Given the description of an element on the screen output the (x, y) to click on. 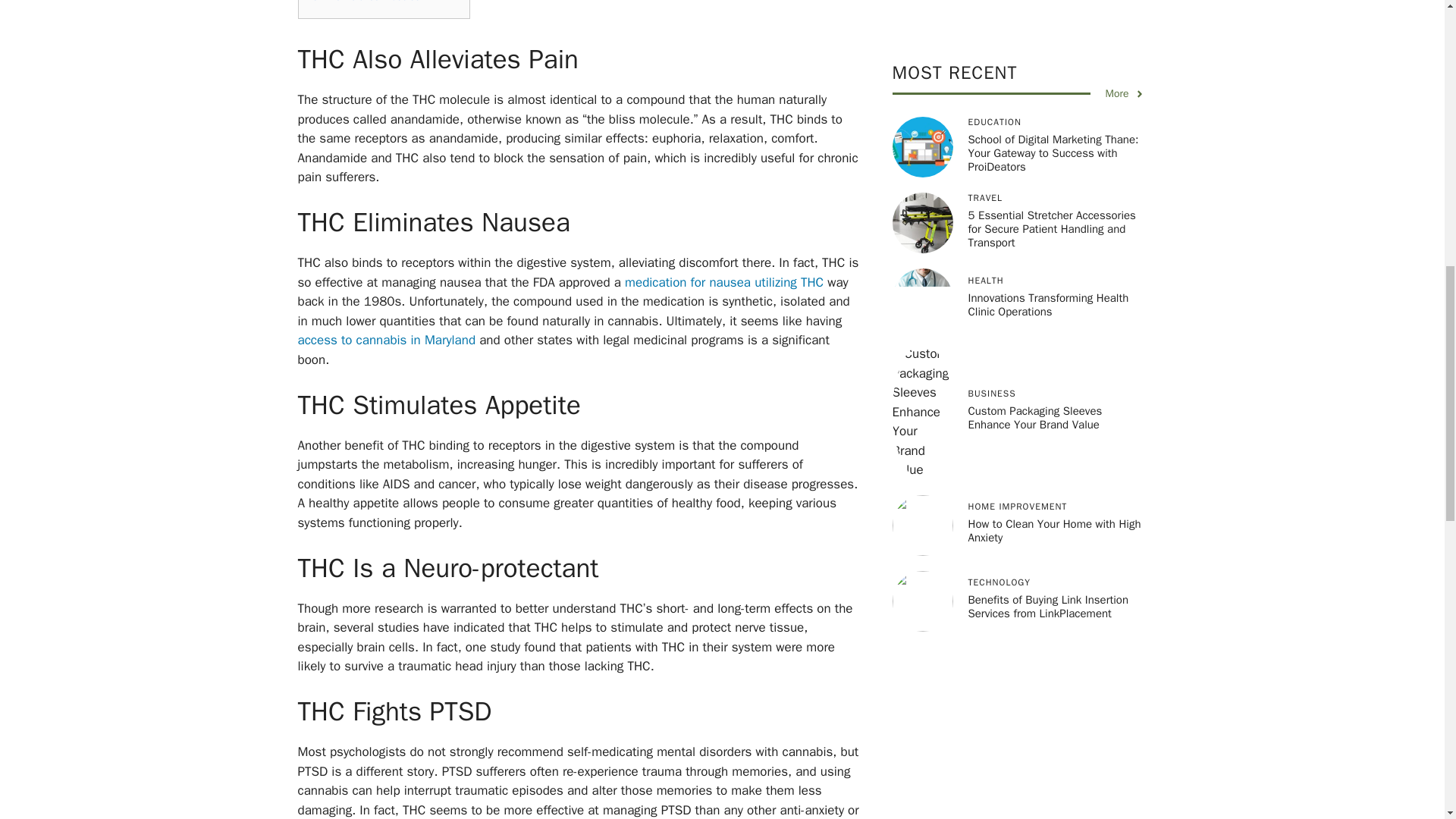
8 THC Relaxes Muscles (366, 1)
medication for nausea utilizing THC (722, 282)
access to cannabis in Maryland (386, 340)
